Given the description of an element on the screen output the (x, y) to click on. 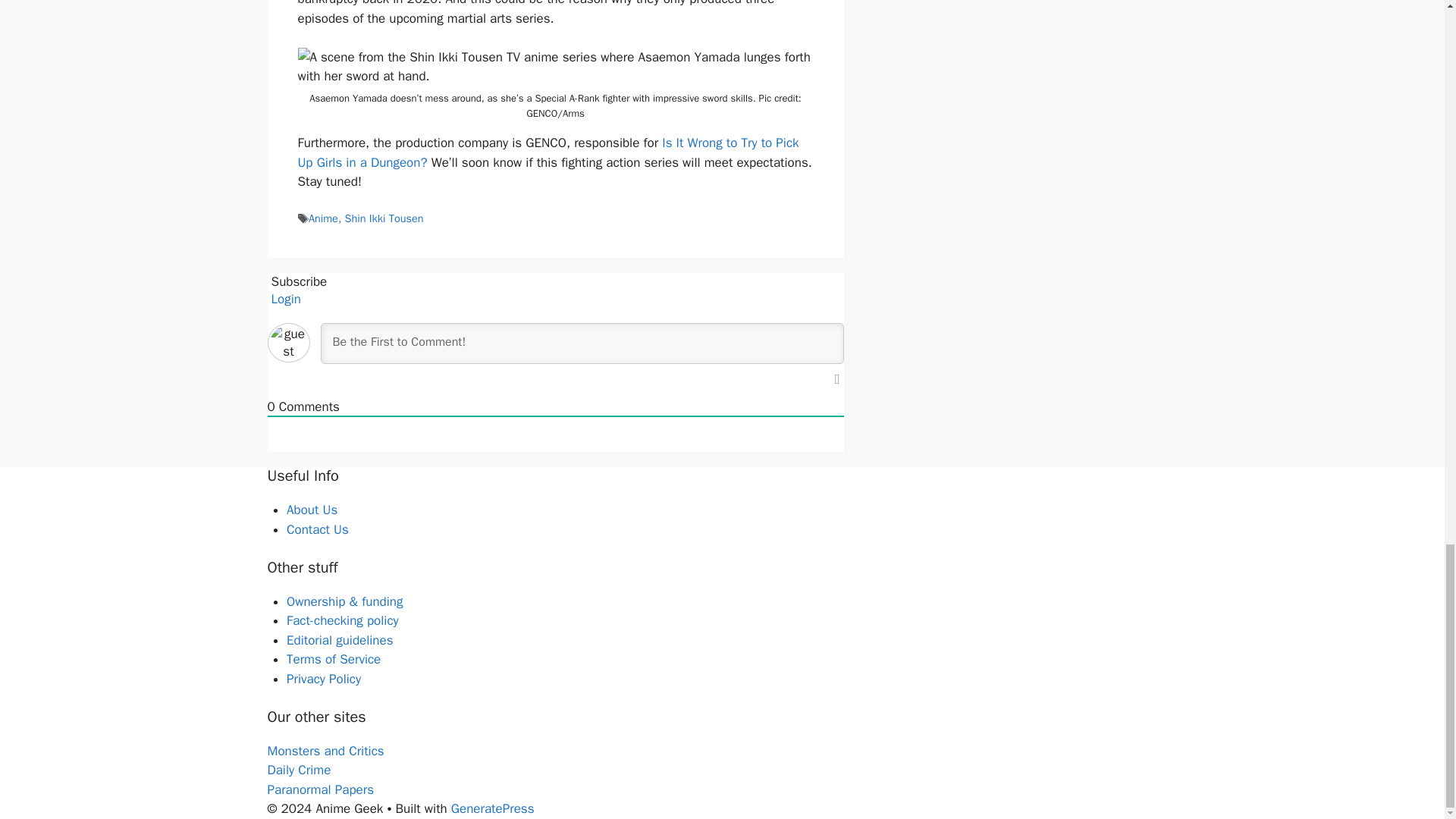
Anime (322, 218)
Is It Wrong to Try to Pick Up Girls in a Dungeon? (547, 152)
Shin Ikki Tousen (384, 218)
Login (283, 299)
